Given the description of an element on the screen output the (x, y) to click on. 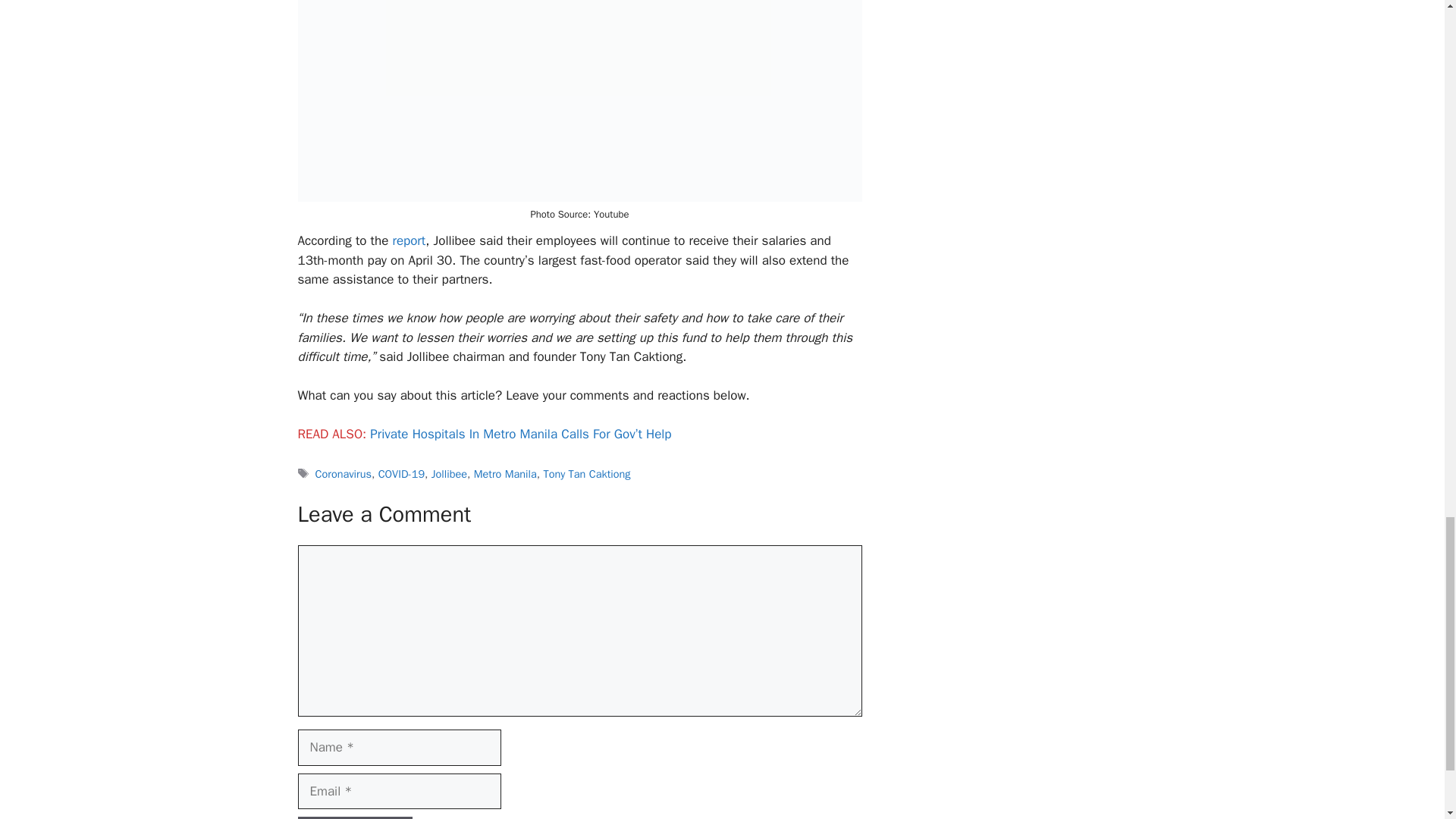
Post Comment (354, 817)
